Given the description of an element on the screen output the (x, y) to click on. 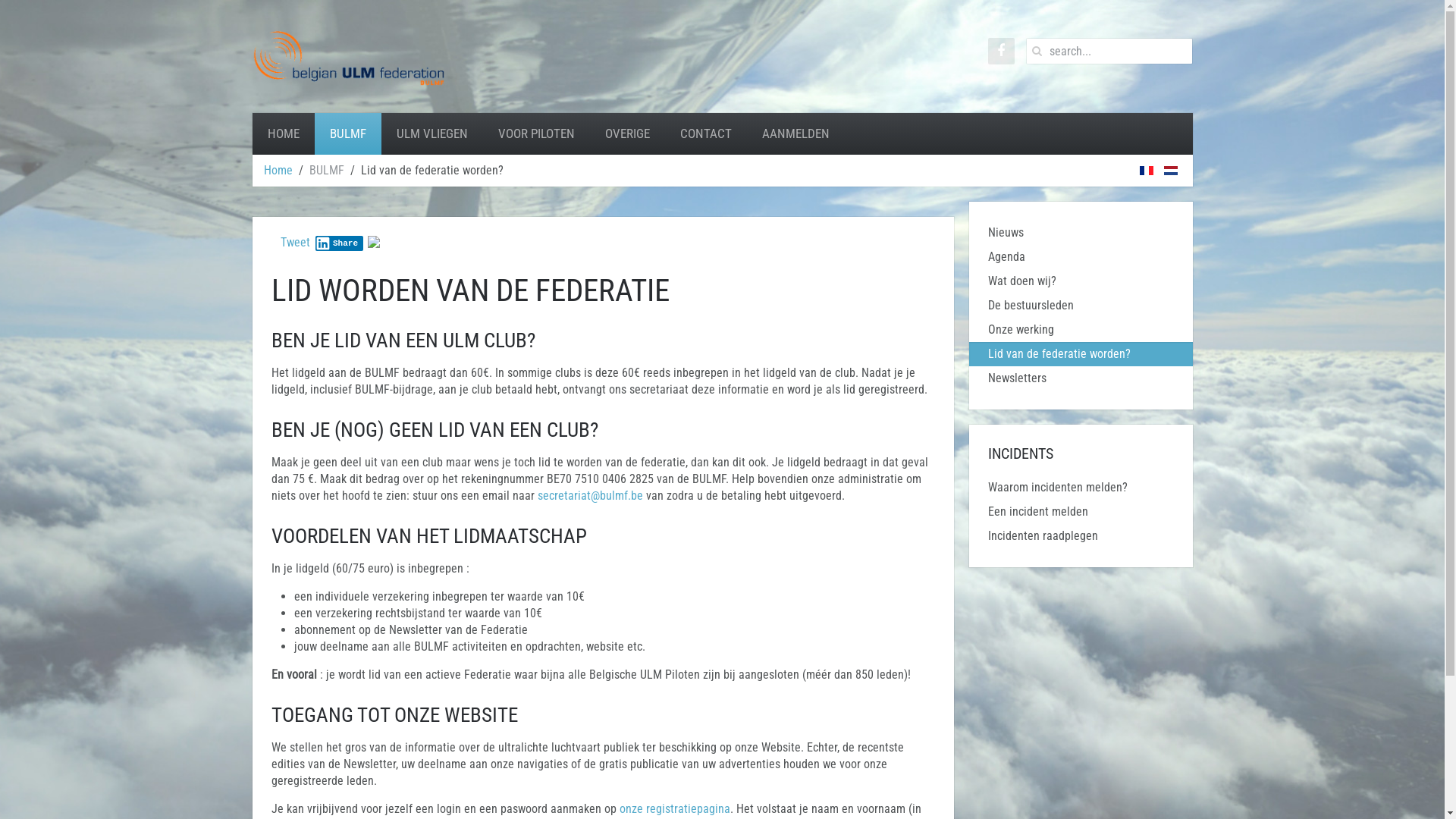
OVERIGE Element type: text (627, 133)
secretariat@bulmf.be Element type: text (589, 495)
De bestuursleden Element type: text (1080, 305)
Lid van de federatie worden? Element type: text (1080, 354)
Nederlands Element type: hover (1169, 170)
Incidenten raadplegen Element type: text (1080, 536)
ULM VLIEGEN Element type: text (431, 133)
Tweet Element type: text (295, 242)
BULMF Element type: text (346, 133)
Home Element type: text (277, 170)
Nieuws Element type: text (1080, 232)
HOME Element type: text (282, 133)
Wat doen wij? Element type: text (1080, 281)
Agenda Element type: text (1080, 256)
onze registratiepagina Element type: text (673, 808)
Onze werking Element type: text (1080, 329)
Waarom incidenten melden? Element type: text (1080, 487)
Een incident melden Element type: text (1080, 511)
AANMELDEN Element type: text (795, 133)
Share Element type: text (339, 243)
VOOR PILOTEN Element type: text (535, 133)
Newsletters Element type: text (1080, 378)
CONTACT Element type: text (705, 133)
